Given the description of an element on the screen output the (x, y) to click on. 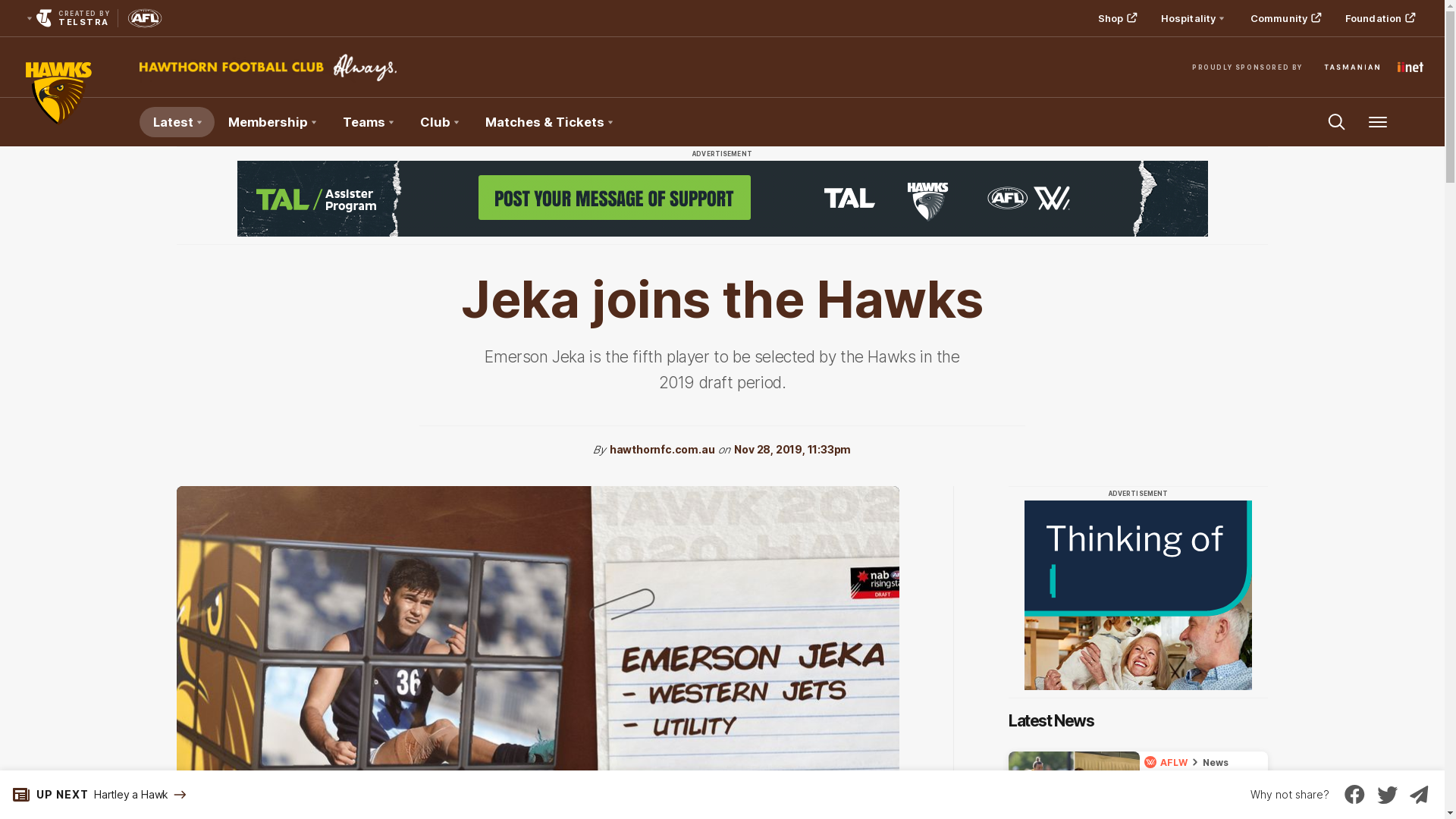
CREATED BY
TELSTRA Element type: text (66, 18)
Hospitality Element type: text (1191, 18)
Matches & Tickets Element type: text (548, 121)
Club Element type: text (438, 121)
AFLW Element type: text (1167, 762)
Shop Element type: text (1115, 18)
Teams Element type: text (367, 121)
3rd party ad content Element type: hover (721, 198)
Foundation Element type: text (1378, 18)
Community Element type: text (1283, 18)
Latest Element type: text (176, 121)
UP NEXT
Hartley a Hawk Element type: text (94, 794)
3rd party ad content Element type: hover (1138, 595)
Club Logo Element type: text (57, 121)
Membership Element type: text (271, 121)
Menu Element type: text (1377, 121)
